Given the description of an element on the screen output the (x, y) to click on. 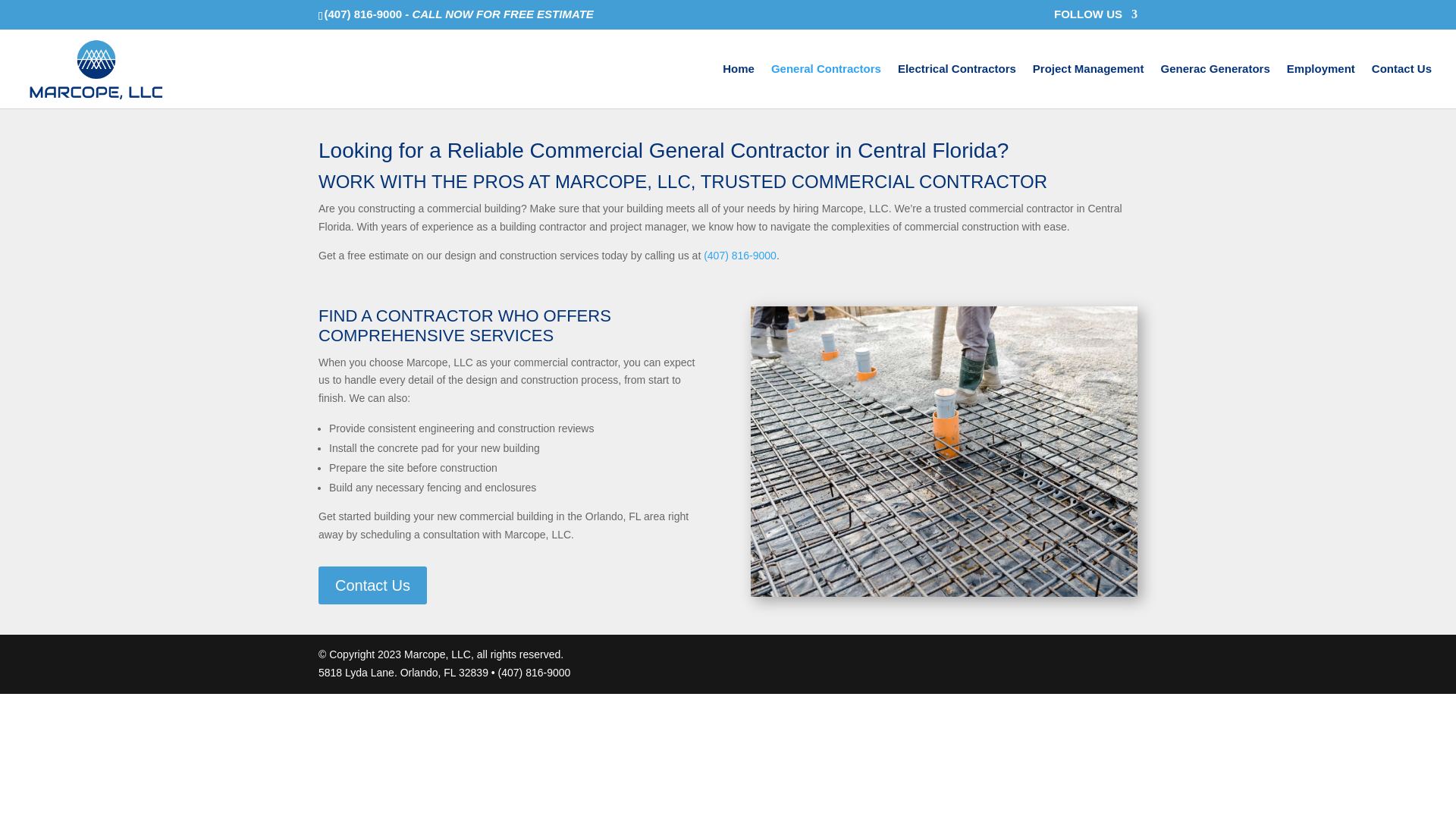
Reliable Commercial General Contractors Pouring Concrete (944, 451)
Electrical Contractors (957, 85)
Project Management (1088, 85)
FOLLOW US (1095, 17)
Contact Us (372, 585)
Contact Us (1401, 85)
Generac Generators (1214, 85)
Employment (1321, 85)
General Contractors (825, 85)
